Given the description of an element on the screen output the (x, y) to click on. 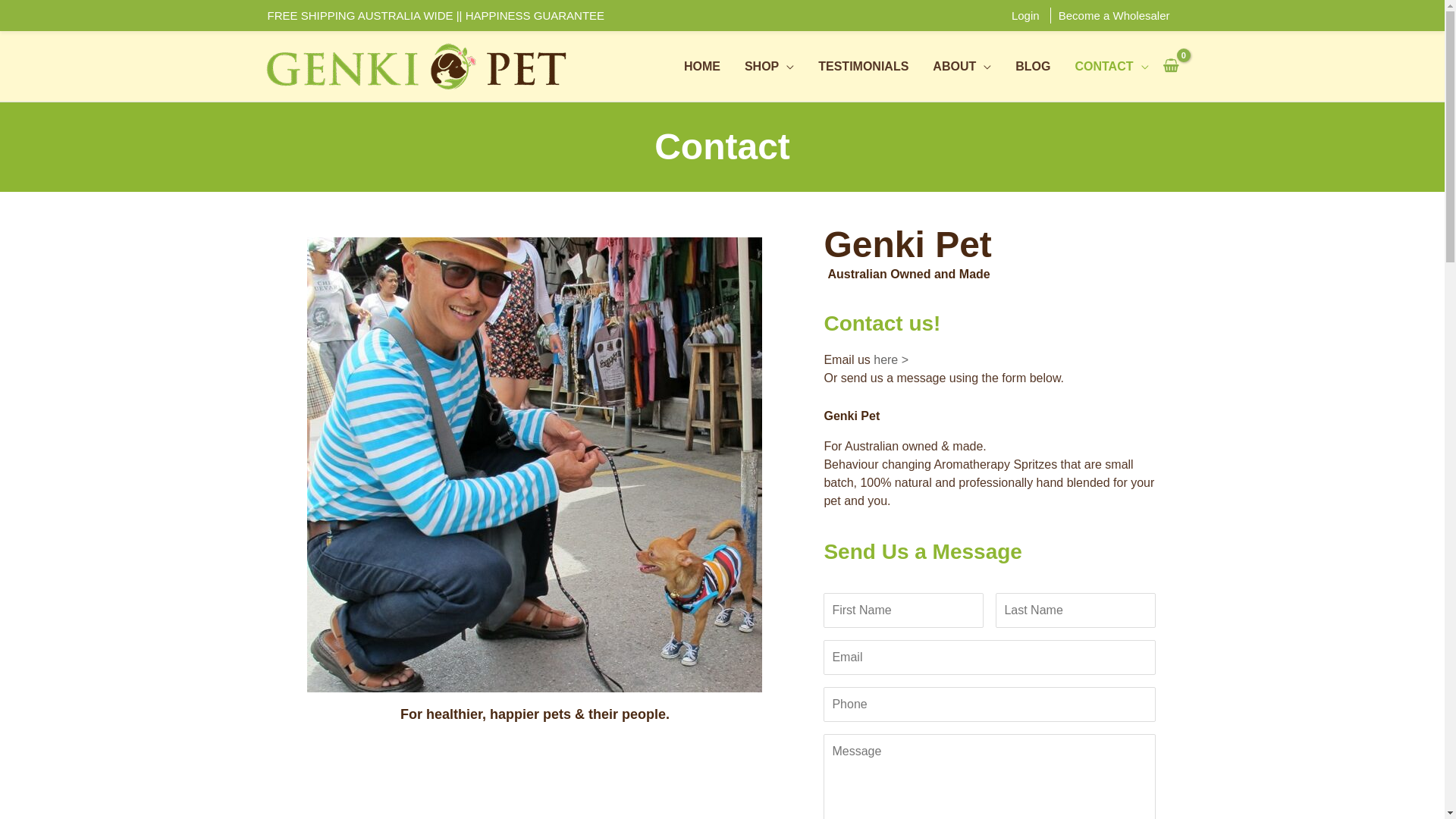
SHOP Element type: text (769, 66)
CONTACT Element type: text (1111, 66)
TESTIMONIALS Element type: text (863, 66)
ABOUT Element type: text (961, 66)
FREE SHIPPING AUSTRALIA WIDE || HAPPINESS GUARANTEE Element type: text (435, 15)
Login Element type: text (1025, 15)
Become a Wholesaler Element type: text (1114, 15)
BLOG Element type: text (1032, 66)
HOME Element type: text (701, 66)
here > Element type: text (890, 359)
